Given the description of an element on the screen output the (x, y) to click on. 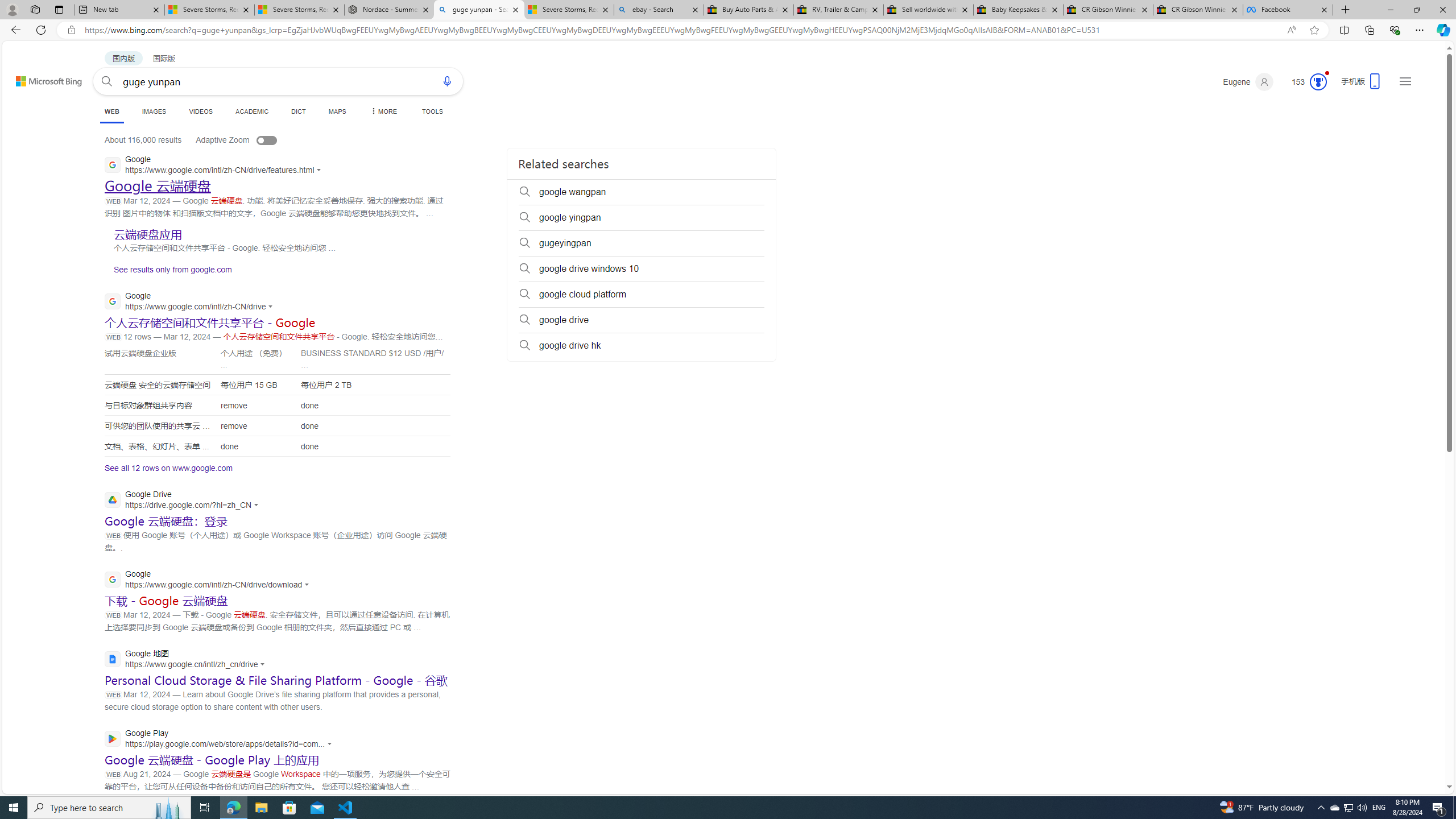
Refresh (40, 29)
Read aloud this page (Ctrl+Shift+U) (1291, 29)
ebay - Search (658, 9)
Add this page to favorites (Ctrl+D) (1314, 29)
See results only from google.com (167, 271)
Google Play (220, 739)
google wangpan (641, 191)
View site information (70, 29)
Skip to content (35, 76)
RV, Trailer & Camper Steps & Ladders for sale | eBay (838, 9)
Baby Keepsakes & Announcements for sale | eBay (1018, 9)
